Given the description of an element on the screen output the (x, y) to click on. 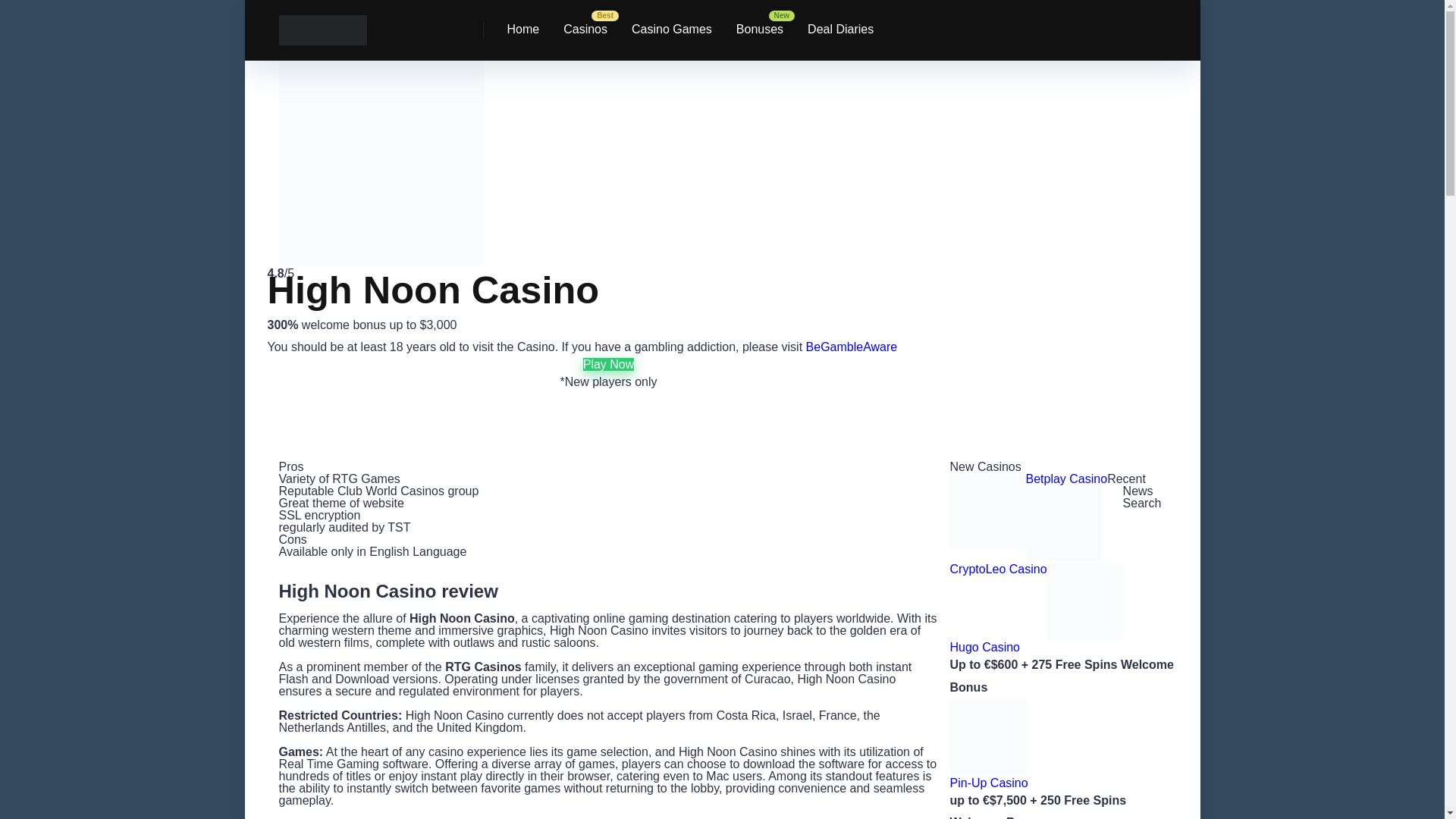
Betplay Casino (1065, 478)
Casinos (585, 30)
Home (523, 30)
Casino Games (671, 30)
Deal Diaries (839, 30)
Bonus Code Casino (322, 24)
Play Now (608, 364)
Bonuses (758, 30)
Play Now (608, 364)
 BeGambleAware (849, 346)
